Given the description of an element on the screen output the (x, y) to click on. 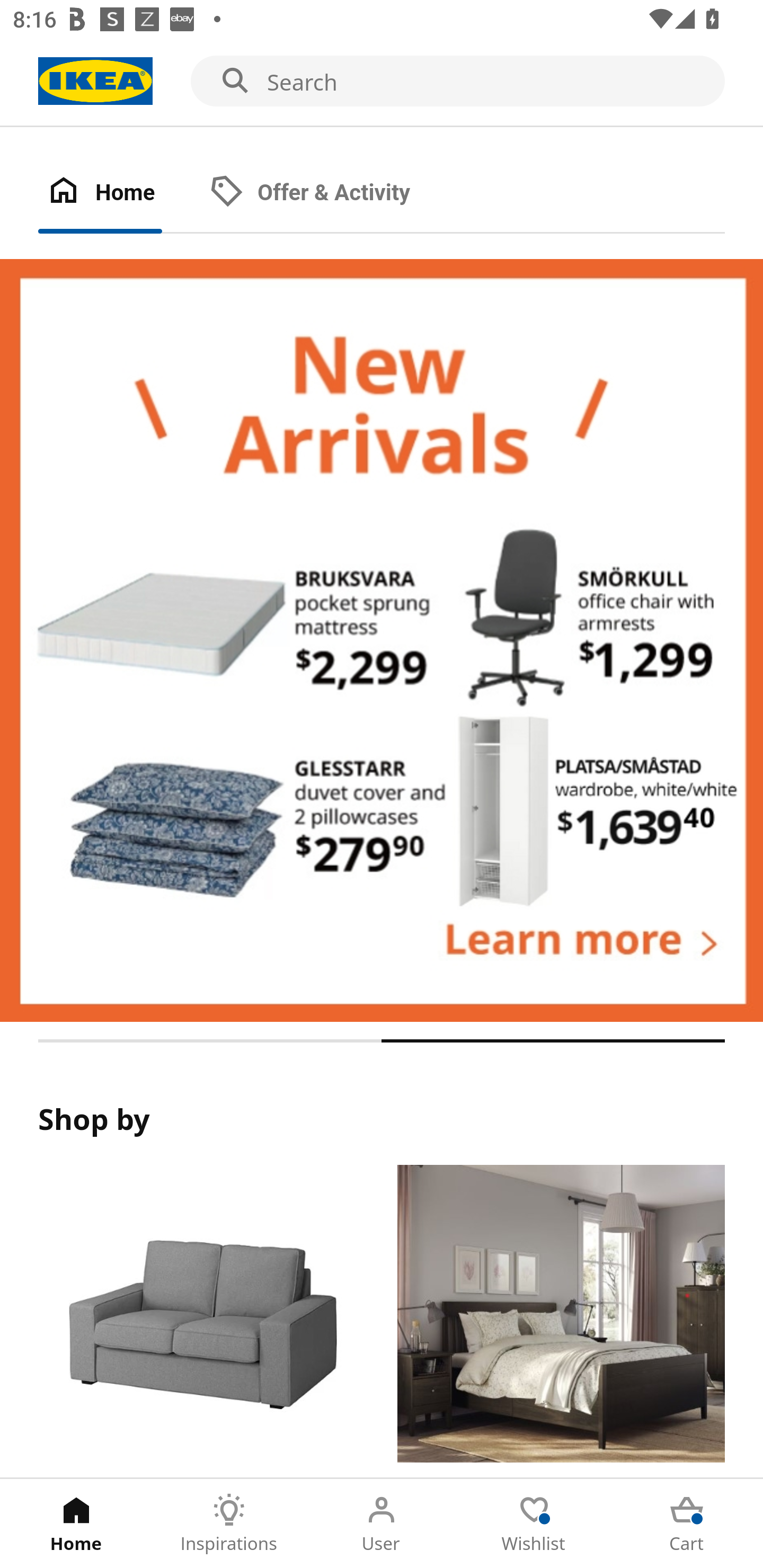
Search (381, 81)
Home
Tab 1 of 2 (118, 192)
Offer & Activity
Tab 2 of 2 (327, 192)
Products (201, 1321)
Rooms (560, 1321)
Home
Tab 1 of 5 (76, 1522)
Inspirations
Tab 2 of 5 (228, 1522)
User
Tab 3 of 5 (381, 1522)
Wishlist
Tab 4 of 5 (533, 1522)
Cart
Tab 5 of 5 (686, 1522)
